Given the description of an element on the screen output the (x, y) to click on. 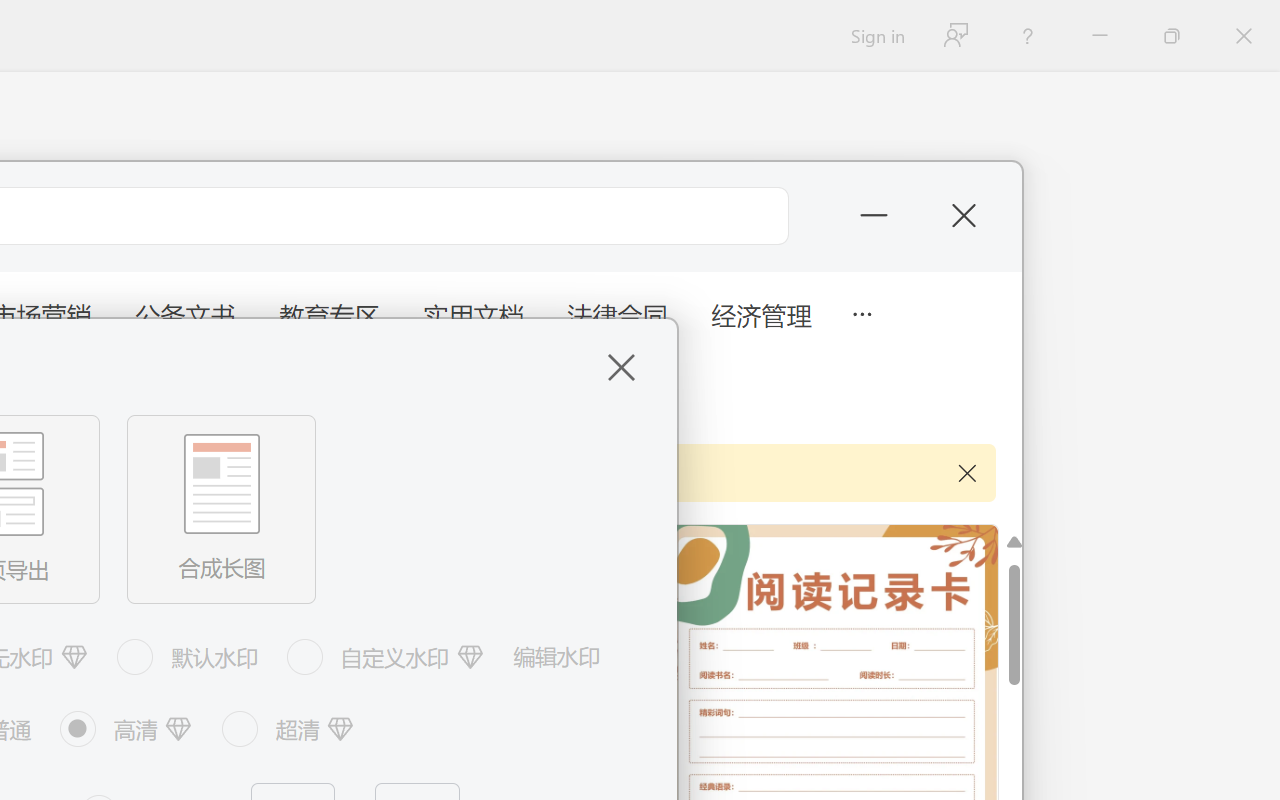
YouTube (450, 22)
Google Account (180, 22)
Subscriptions - YouTube (585, 22)
New Tab (990, 22)
